Given the description of an element on the screen output the (x, y) to click on. 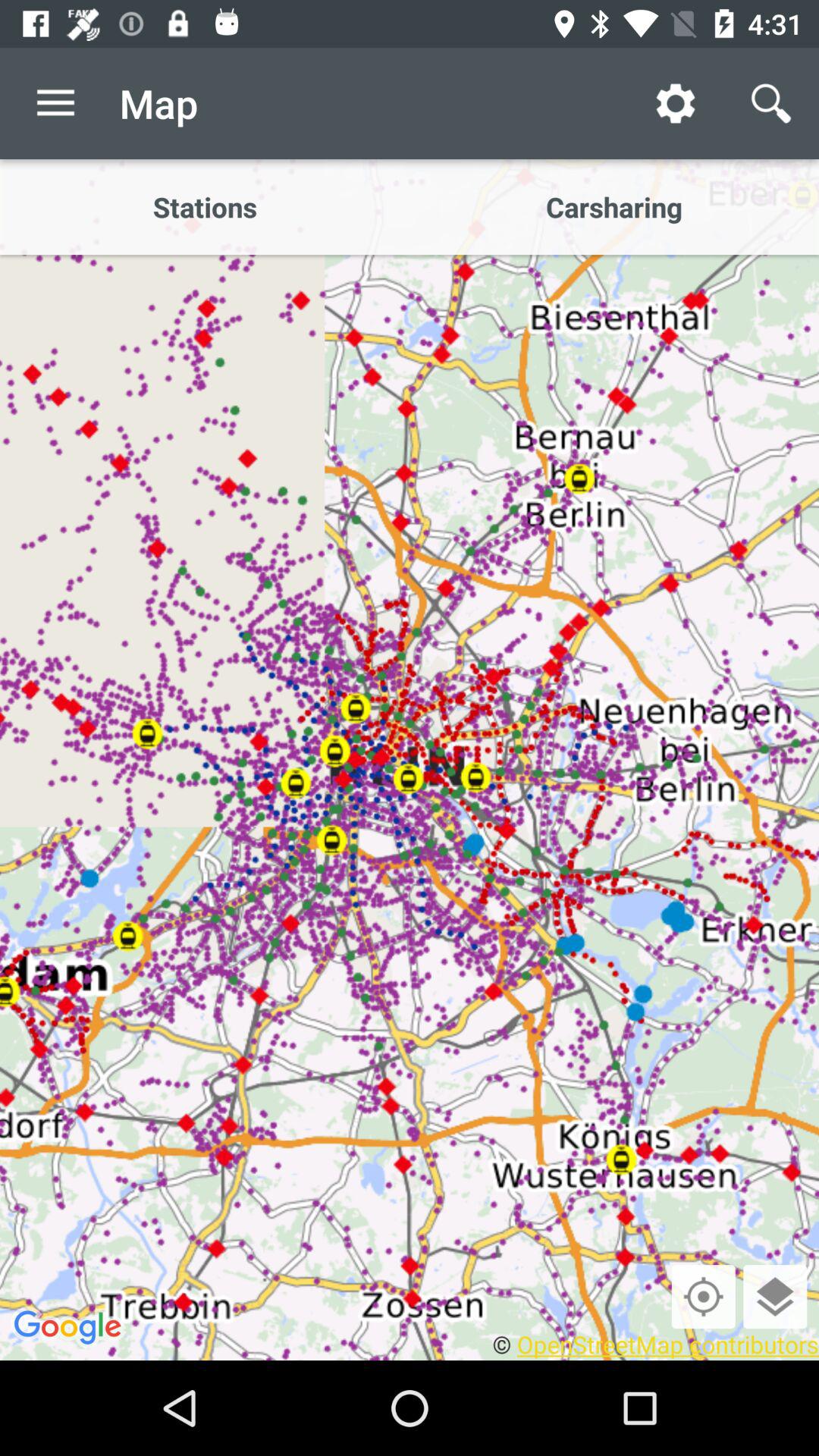
click icon to the right of the map icon (675, 103)
